Given the description of an element on the screen output the (x, y) to click on. 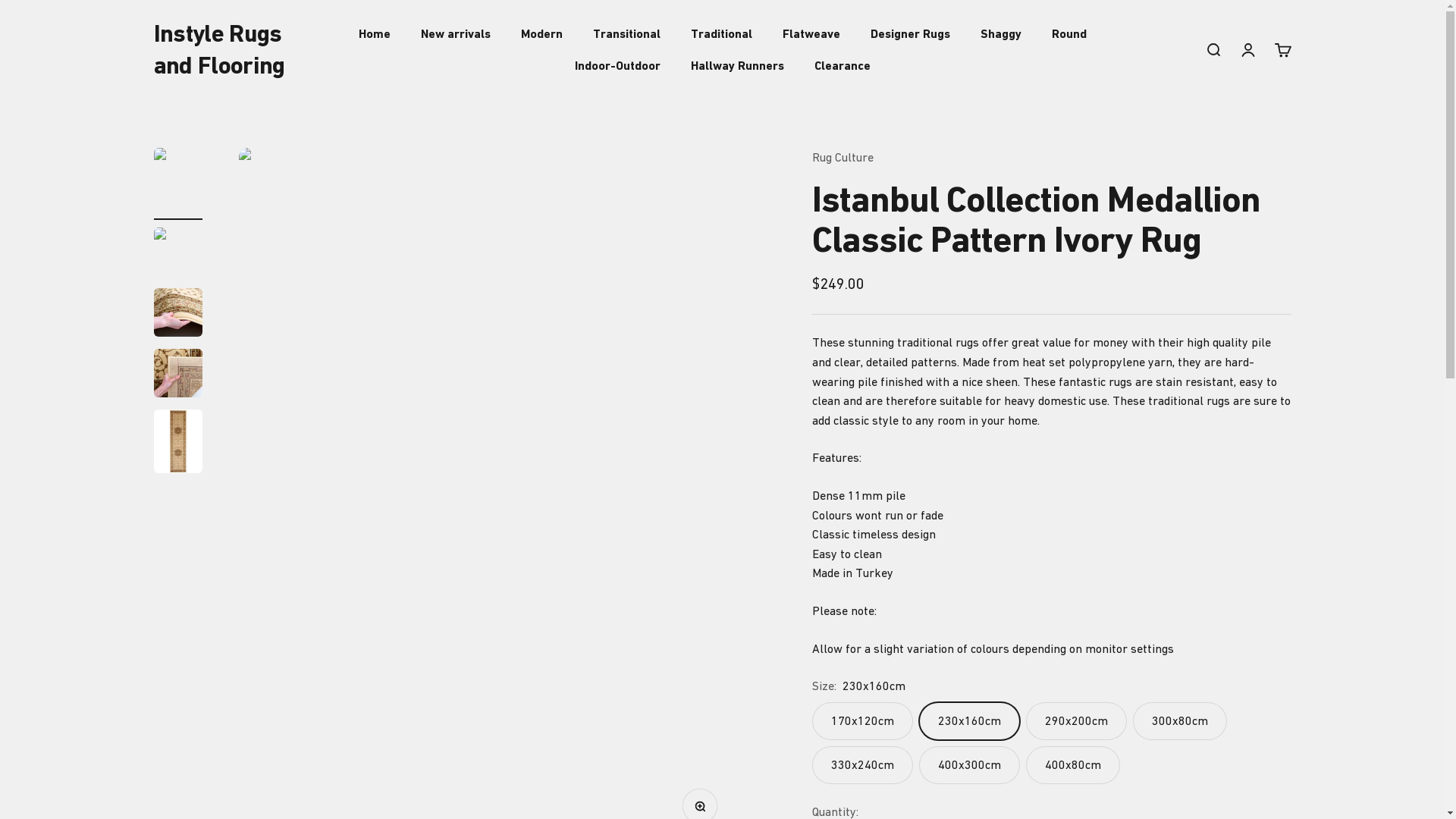
Hallway Runners Element type: text (736, 65)
New arrivals Element type: text (454, 33)
Home Element type: text (373, 33)
Traditional Element type: text (720, 33)
Instyle Rugs and Flooring Element type: text (223, 49)
Flatweave Element type: text (811, 33)
Indoor-Outdoor Element type: text (617, 65)
Modern Element type: text (540, 33)
Shaggy Element type: text (999, 33)
Clearance Element type: text (842, 65)
Transitional Element type: text (626, 33)
Round Element type: text (1068, 33)
Open account page Element type: text (1247, 49)
Open search Element type: text (1212, 49)
Open cart Element type: text (1282, 49)
Designer Rugs Element type: text (910, 33)
Rug Culture Element type: text (842, 156)
